Given the description of an element on the screen output the (x, y) to click on. 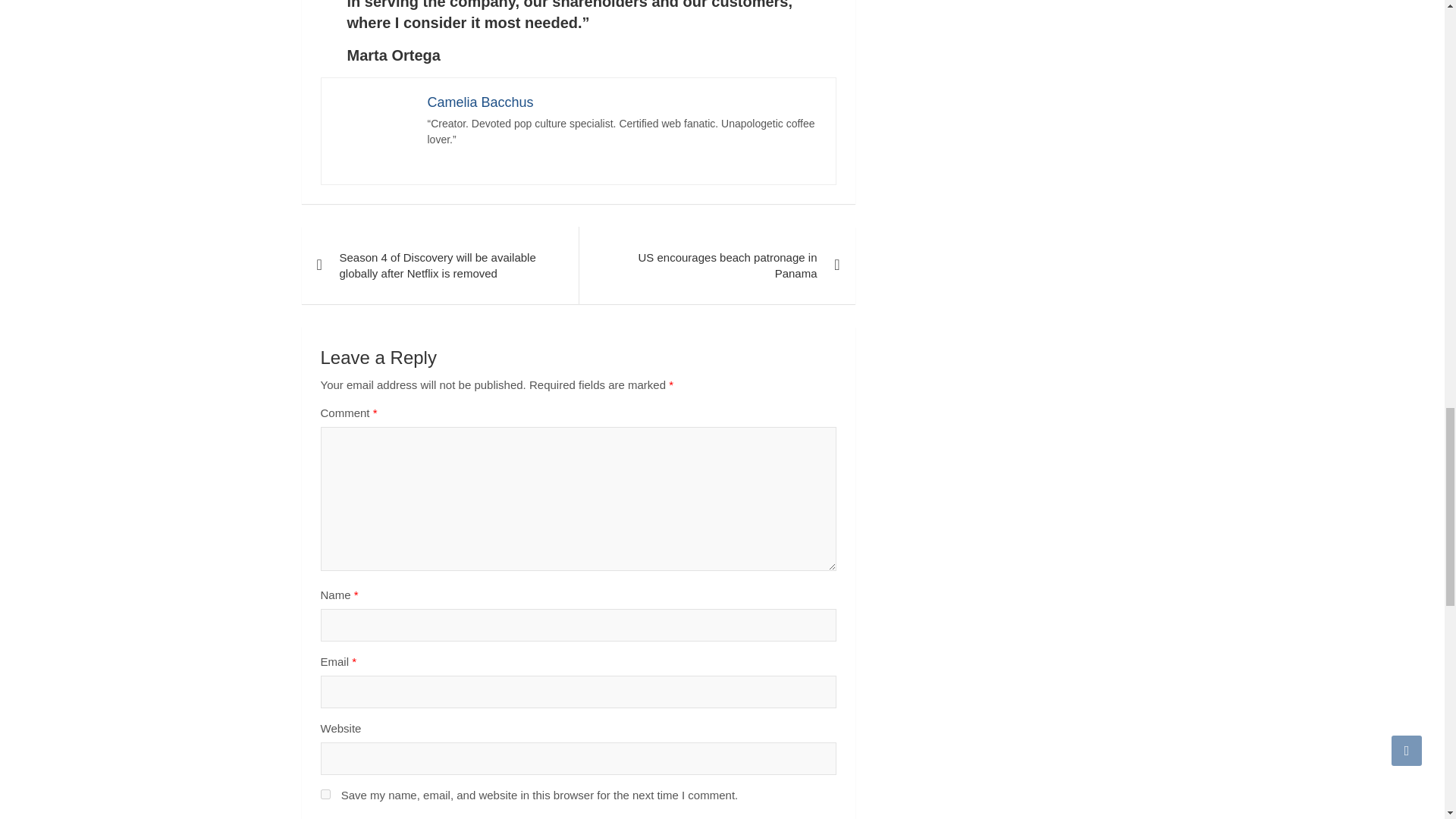
US encourages beach patronage in Panama (716, 264)
Camelia Bacchus (481, 102)
yes (325, 794)
